Given the description of an element on the screen output the (x, y) to click on. 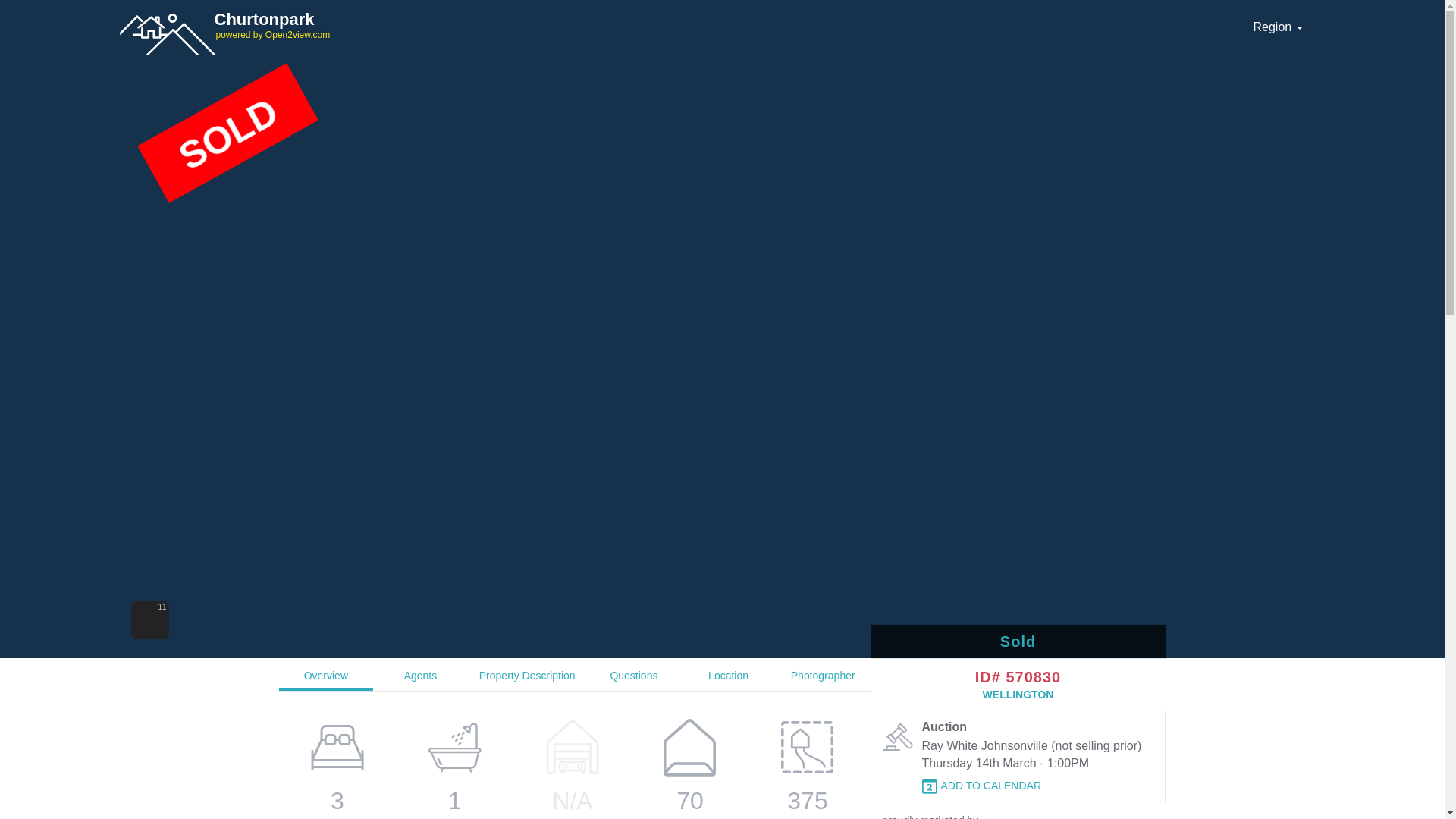
Churtonpark (369, 19)
